Given the description of an element on the screen output the (x, y) to click on. 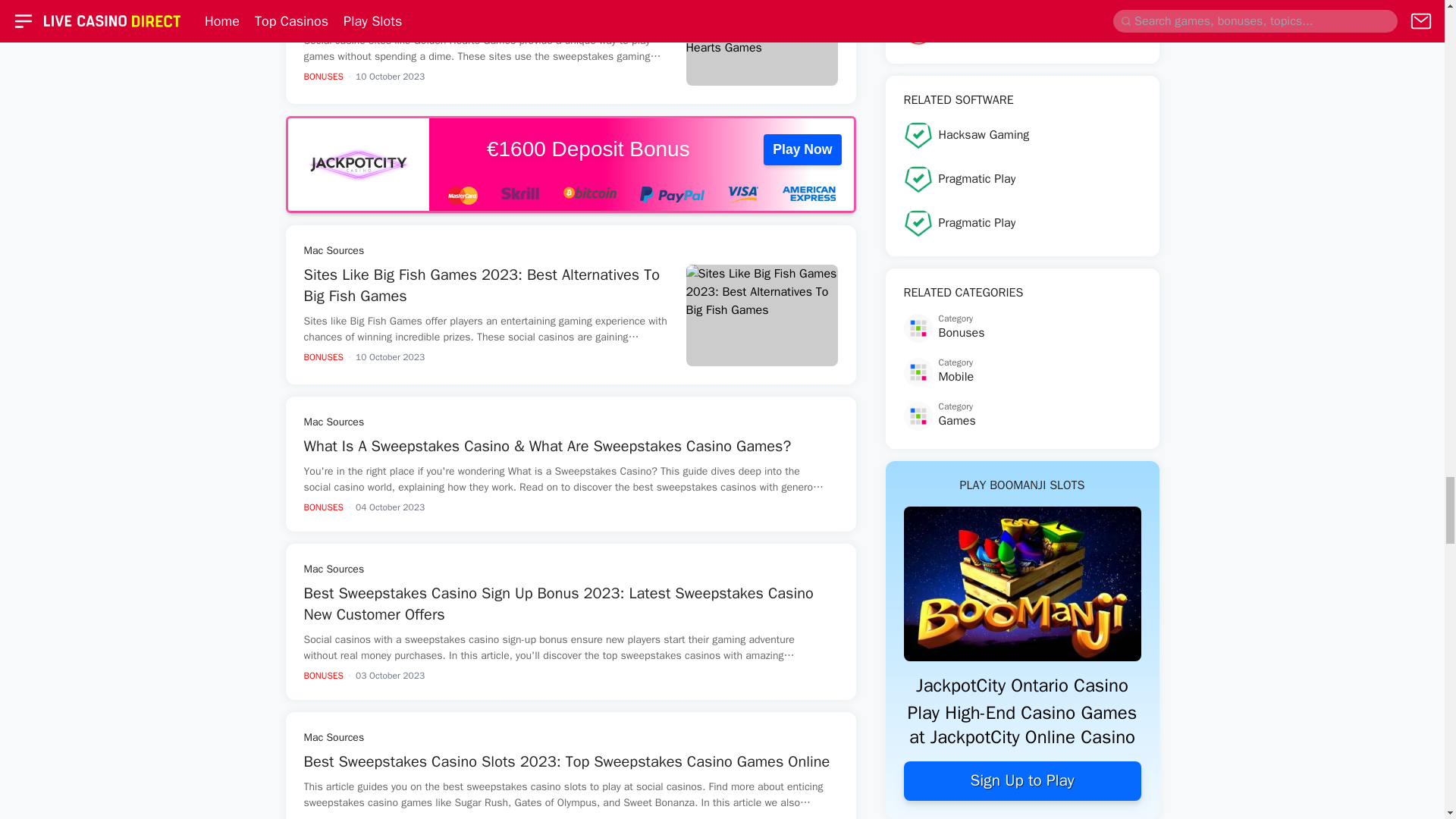
JackpotCity (358, 164)
